Given the description of an element on the screen output the (x, y) to click on. 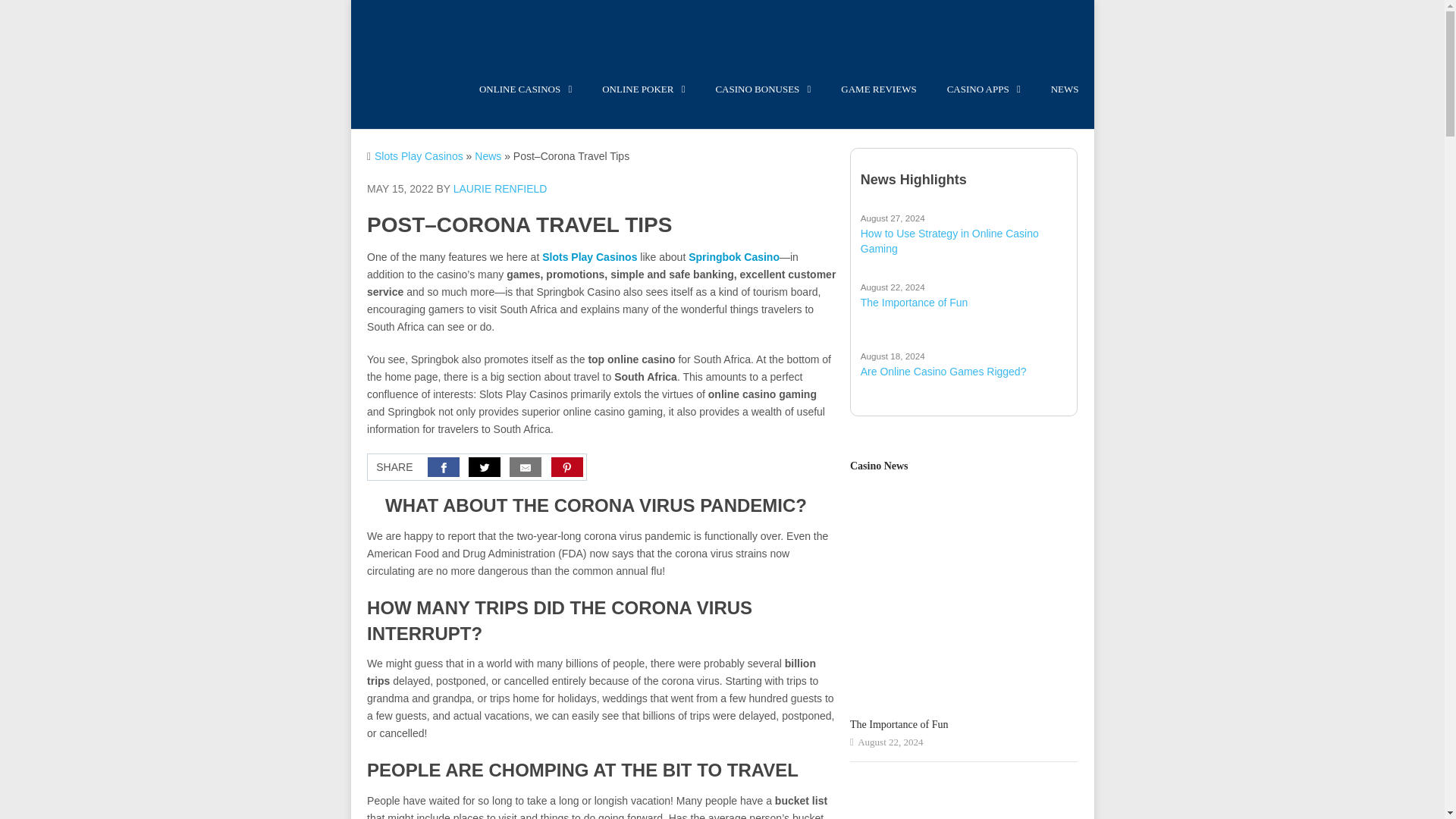
The Importance of Fun (963, 295)
ONLINE CASINOS (525, 97)
How to Use Strategy in Online Casino Gaming (963, 233)
Posts by Laurie Renfield (499, 188)
